Given the description of an element on the screen output the (x, y) to click on. 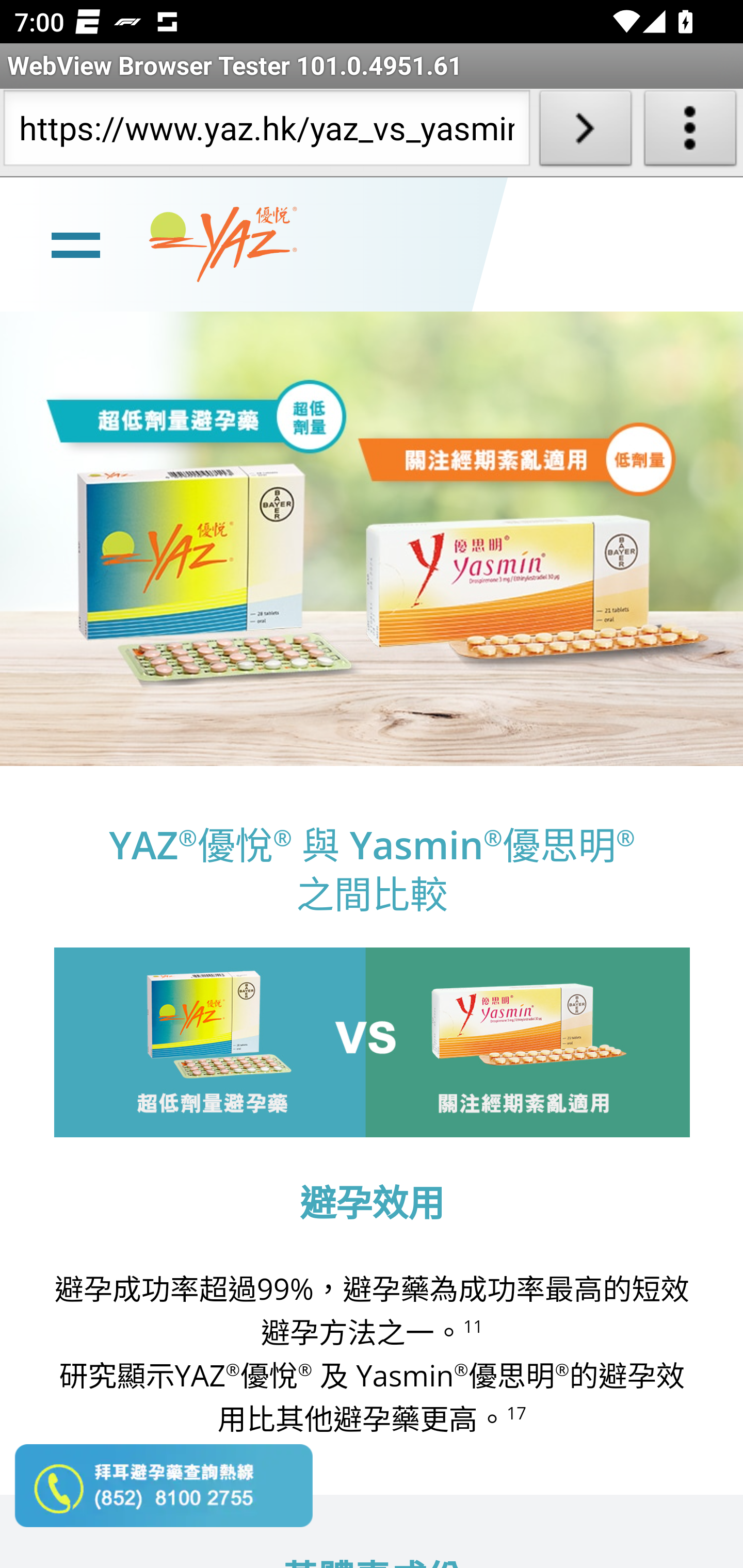
Load URL (585, 132)
About WebView (690, 132)
www.yaz (222, 244)
line Toggle burger menu (75, 242)
